Given the description of an element on the screen output the (x, y) to click on. 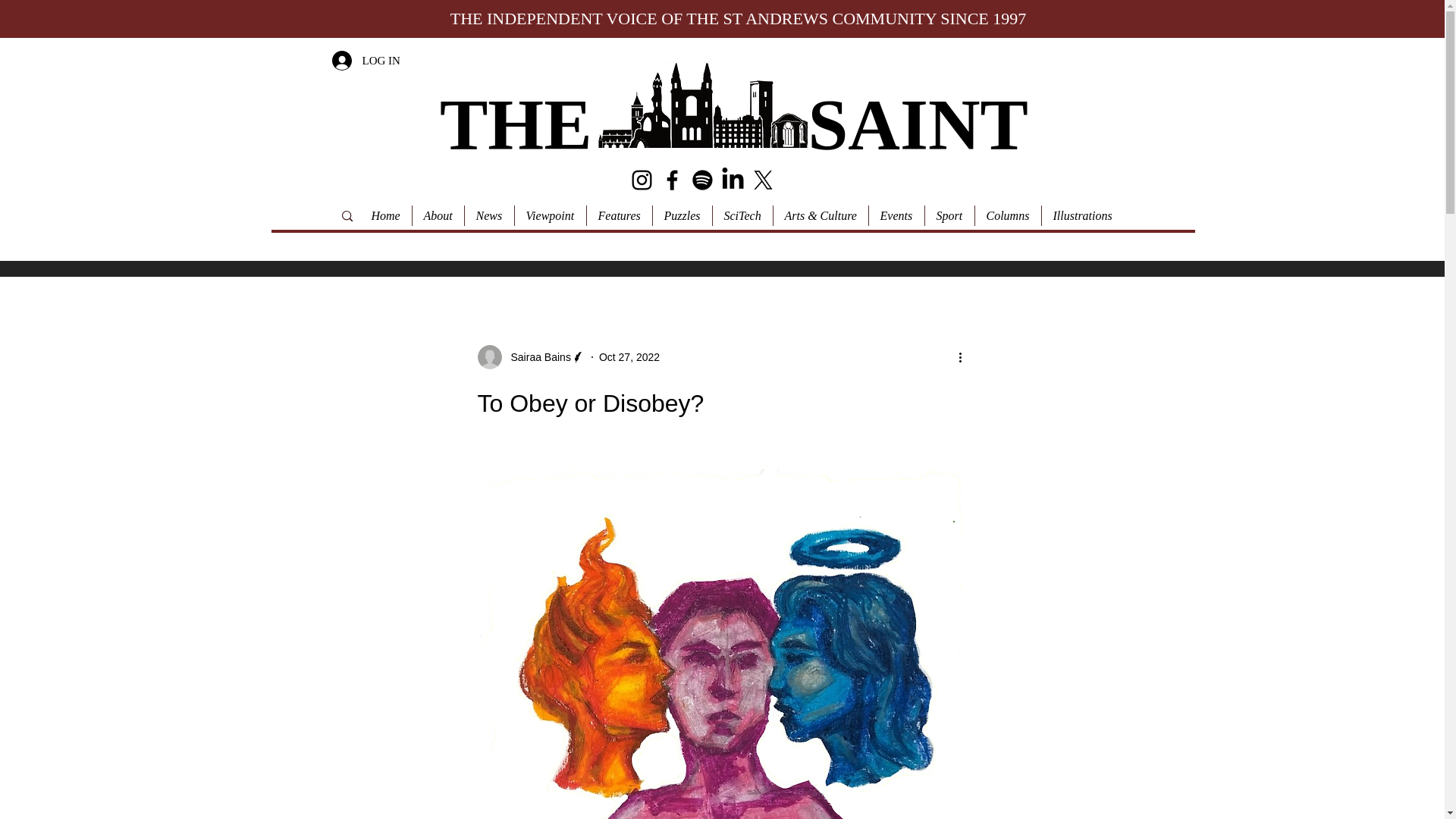
Features (617, 215)
Events (895, 215)
Oct 27, 2022 (628, 356)
THE INDEPENDENT VOICE OF THE ST ANDREWS COMMUNITY SINCE 1997 (737, 18)
Puzzles (681, 215)
Weather (1098, 117)
Sport (948, 215)
Sairaa Bains (531, 356)
LOG IN (365, 60)
Home (384, 215)
